Given the description of an element on the screen output the (x, y) to click on. 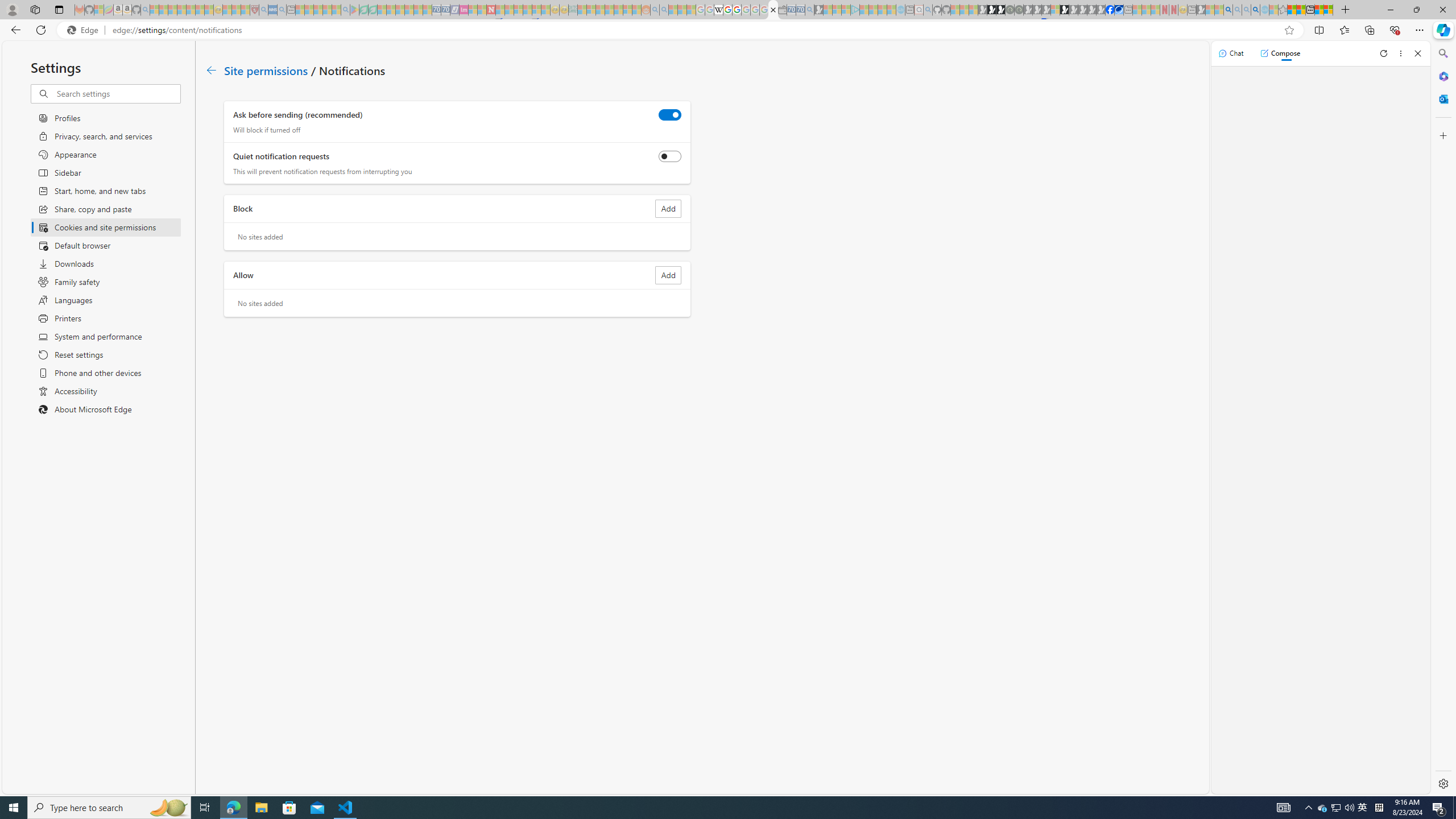
MSNBC - MSN - Sleeping (581, 9)
New Report Confirms 2023 Was Record Hot | Watch - Sleeping (191, 9)
Add site to Allow list (668, 275)
Site permissions (266, 69)
Recipes - MSN - Sleeping (226, 9)
AQI & Health | AirNow.gov (1118, 9)
Future Focus Report 2024 - Sleeping (1018, 9)
Google Chrome Internet Browser Download - Search Images (1255, 9)
